Given the description of an element on the screen output the (x, y) to click on. 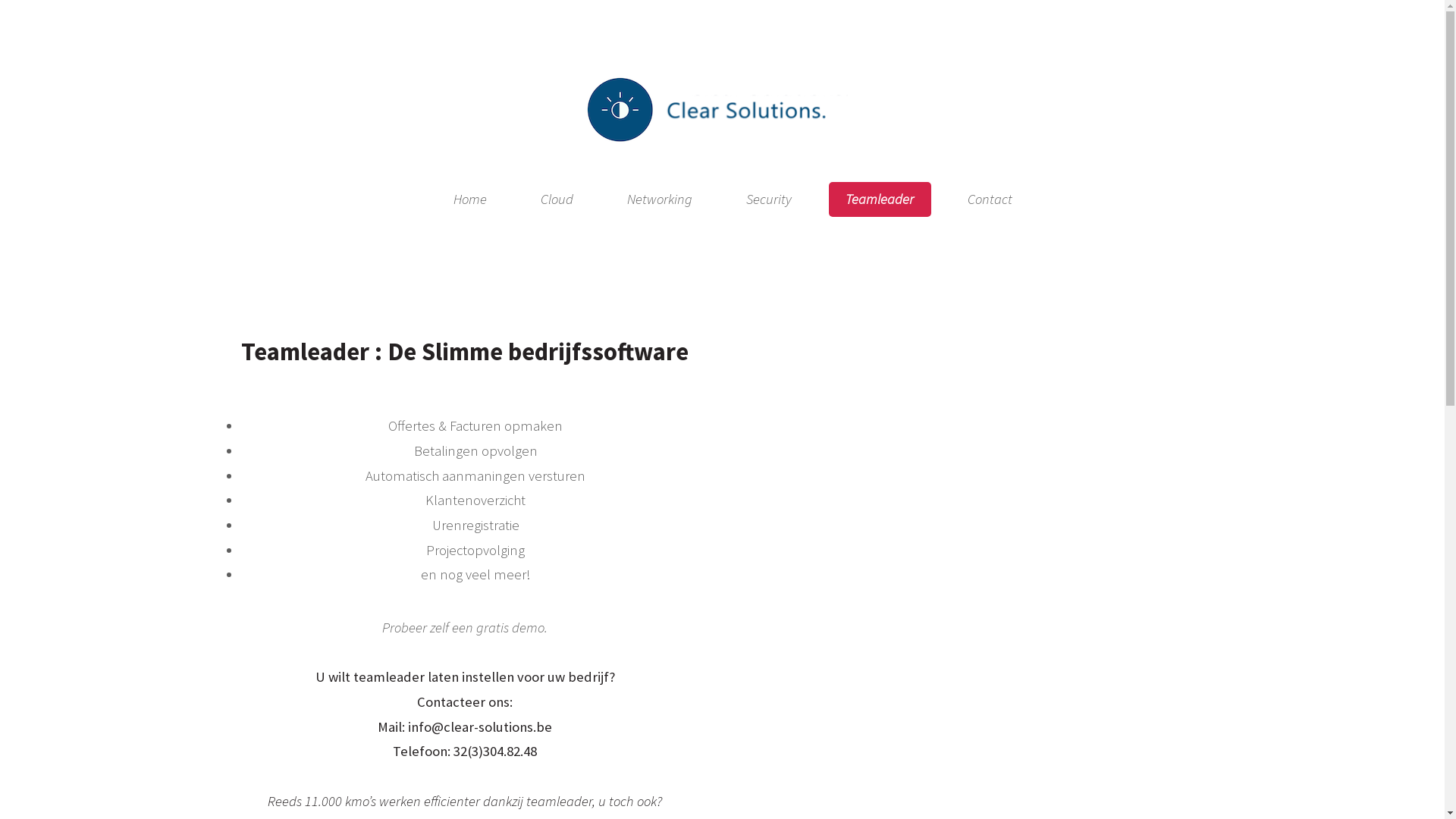
Networking Element type: text (659, 199)
Security Element type: text (769, 199)
Teamleader Element type: text (879, 199)
Cloud Element type: text (556, 199)
Contact Element type: text (989, 199)
Home Element type: text (469, 199)
